Given the description of an element on the screen output the (x, y) to click on. 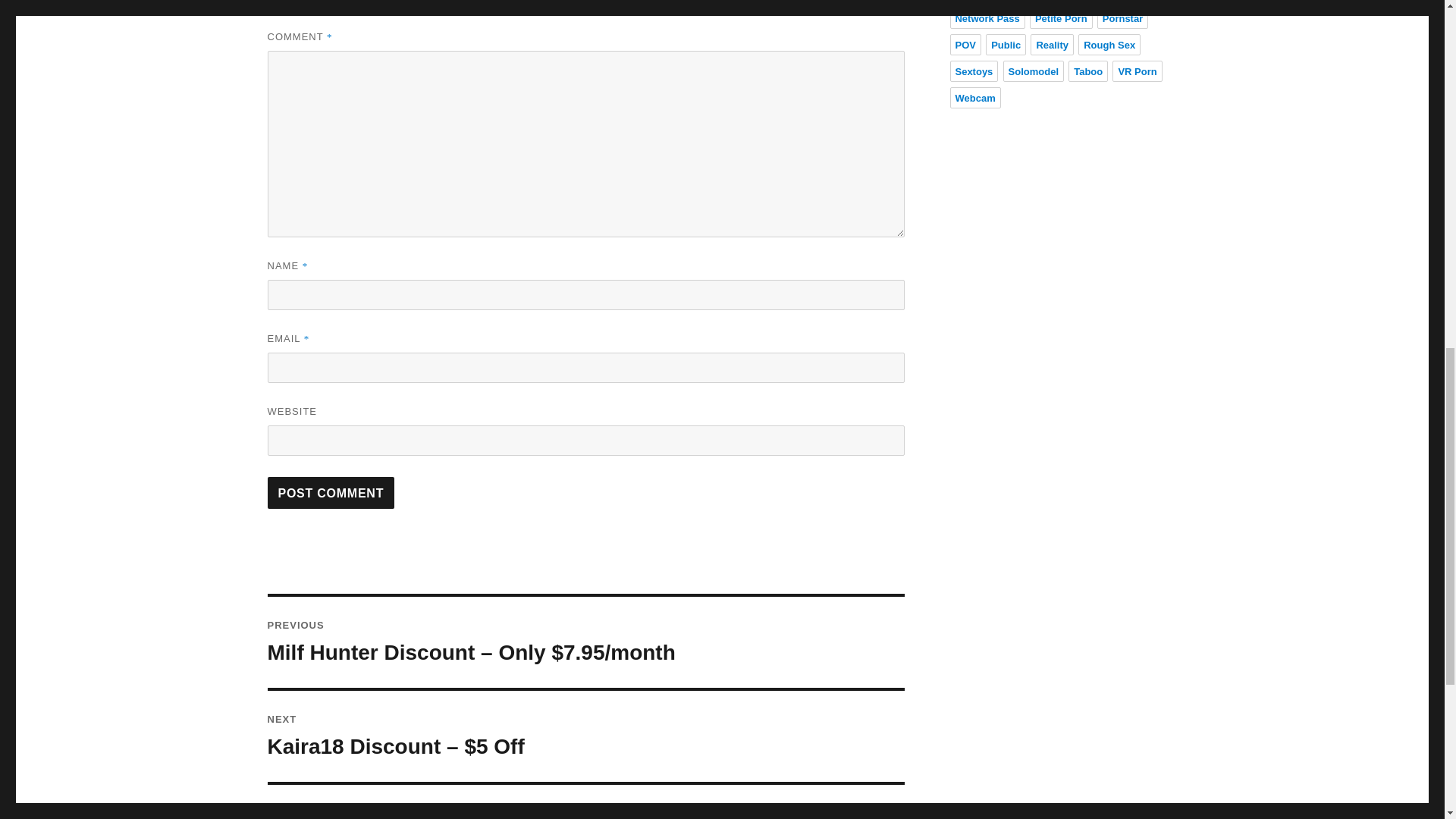
Post Comment (330, 492)
Post Comment (330, 492)
